Given the description of an element on the screen output the (x, y) to click on. 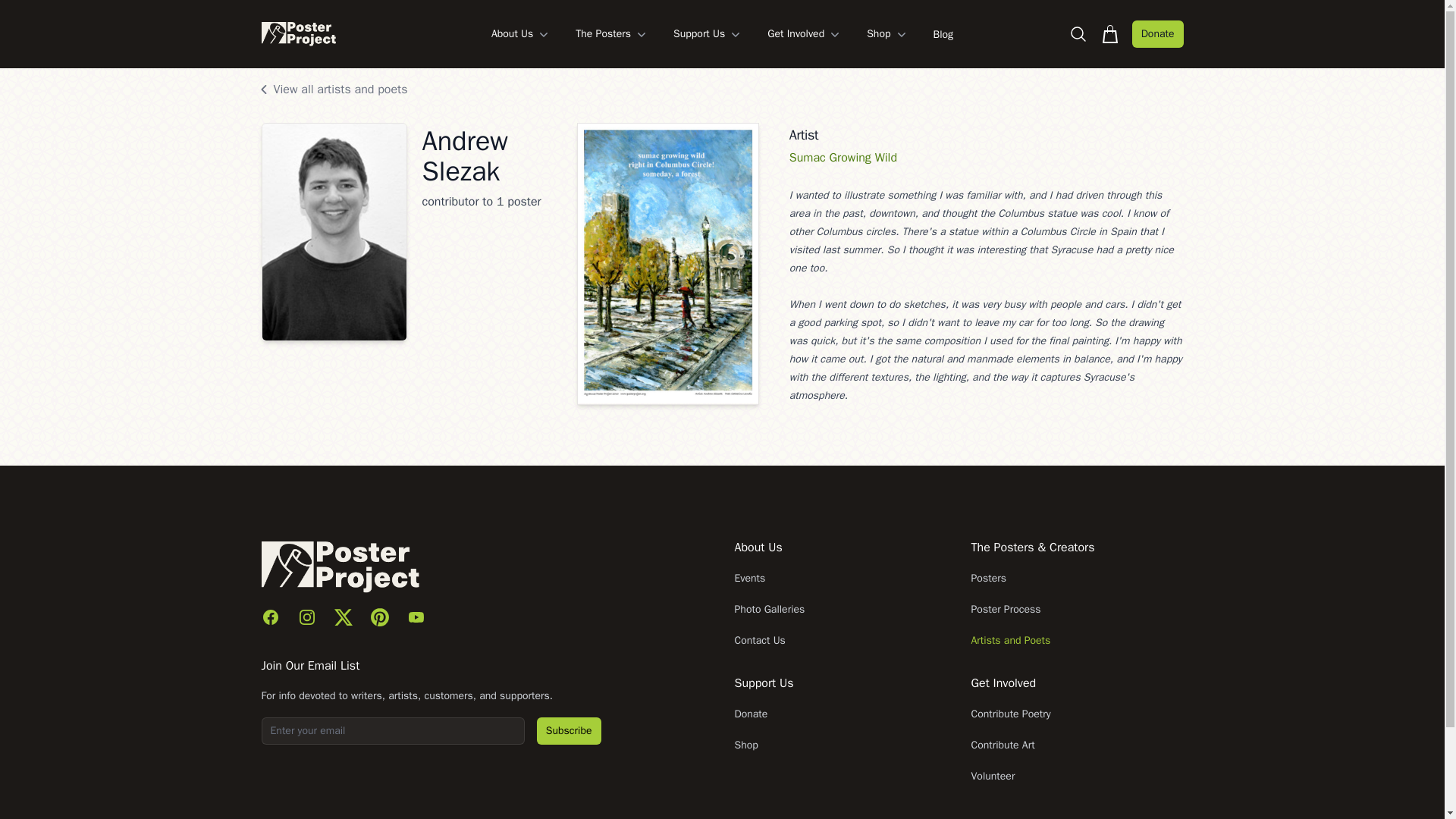
Volunteer (992, 775)
Poster Project (297, 33)
Photo Galleries (769, 608)
Artists and Poets (1010, 640)
YouTube (415, 617)
Facebook (269, 617)
Donate (1157, 33)
Events (749, 577)
Contribute Poetry (1010, 713)
Support Us (707, 33)
Pinterest (378, 617)
Sumac Growing Wild (842, 157)
Donate (750, 713)
Shop (745, 744)
Blog (943, 33)
